Given the description of an element on the screen output the (x, y) to click on. 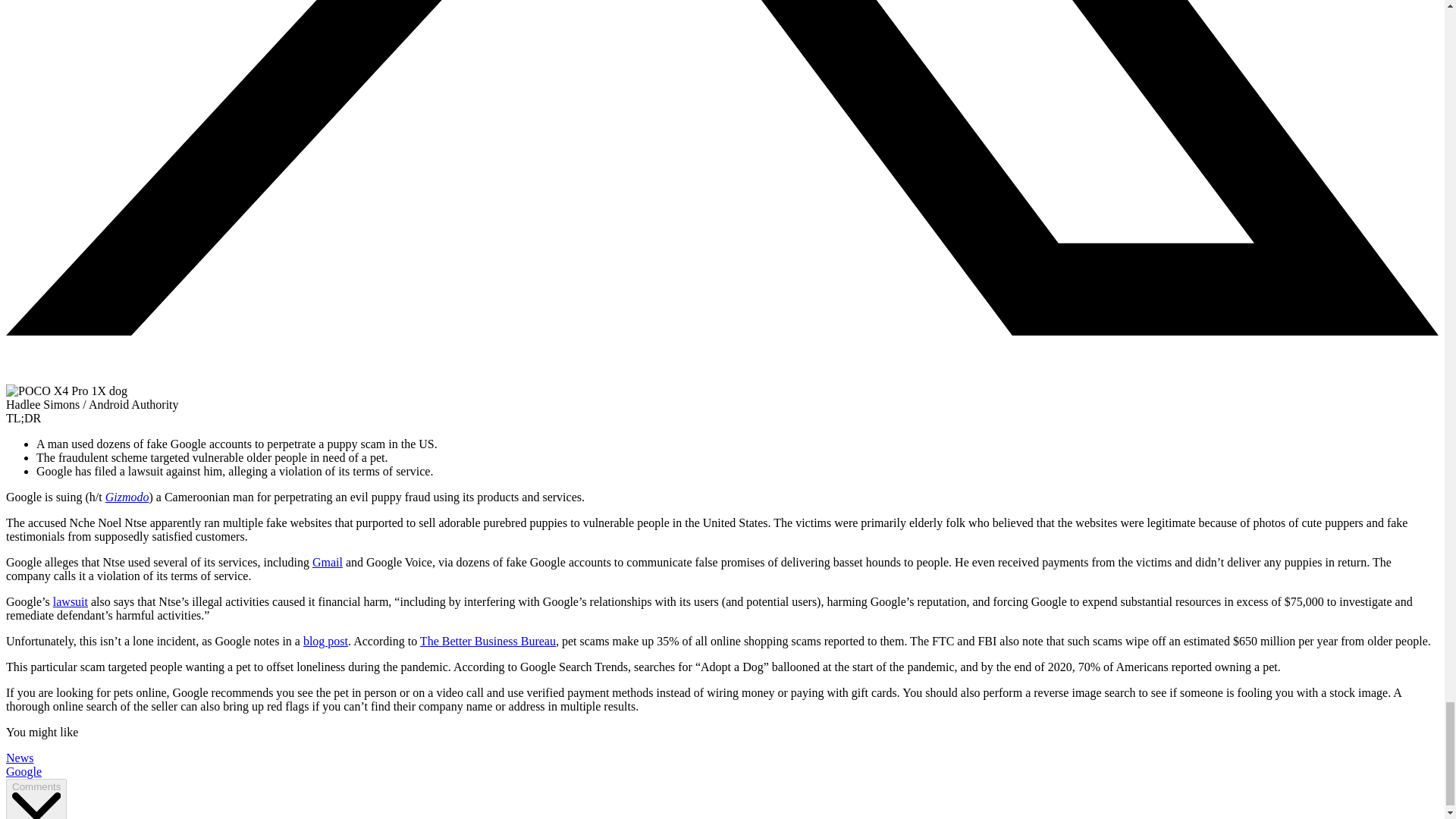
lawsuit (69, 601)
blog post (324, 640)
The Better Business Bureau (488, 640)
Google (23, 771)
Gmail (327, 562)
Gizmodo (126, 496)
POCO X4 Pro 1X dog (66, 391)
News (19, 757)
